Given the description of an element on the screen output the (x, y) to click on. 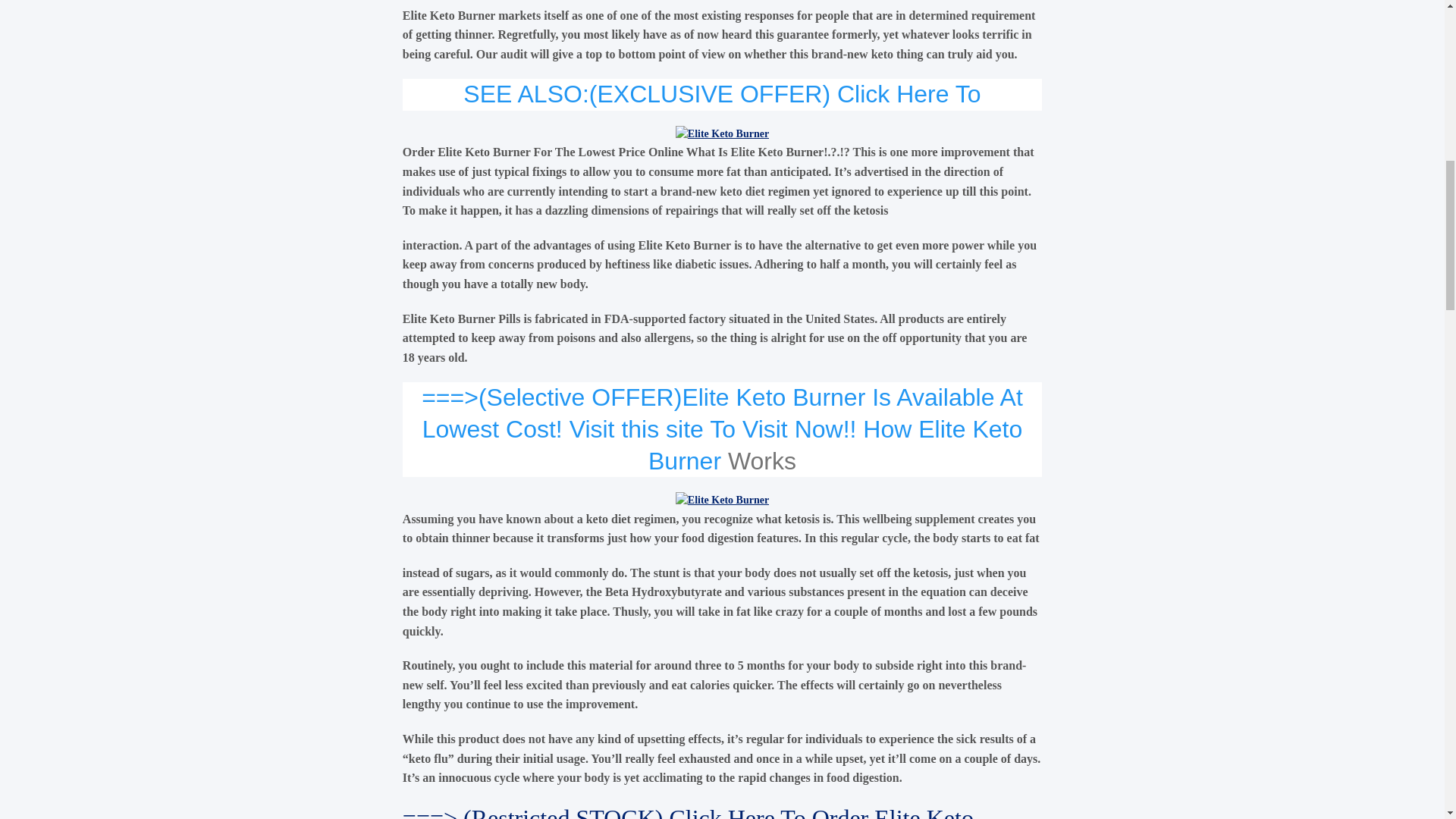
Elite Keto Burner (685, 245)
Elite Keto Burner (721, 500)
Elite Keto Burner Pills (462, 318)
Elite Keto Burner (721, 134)
